Given the description of an element on the screen output the (x, y) to click on. 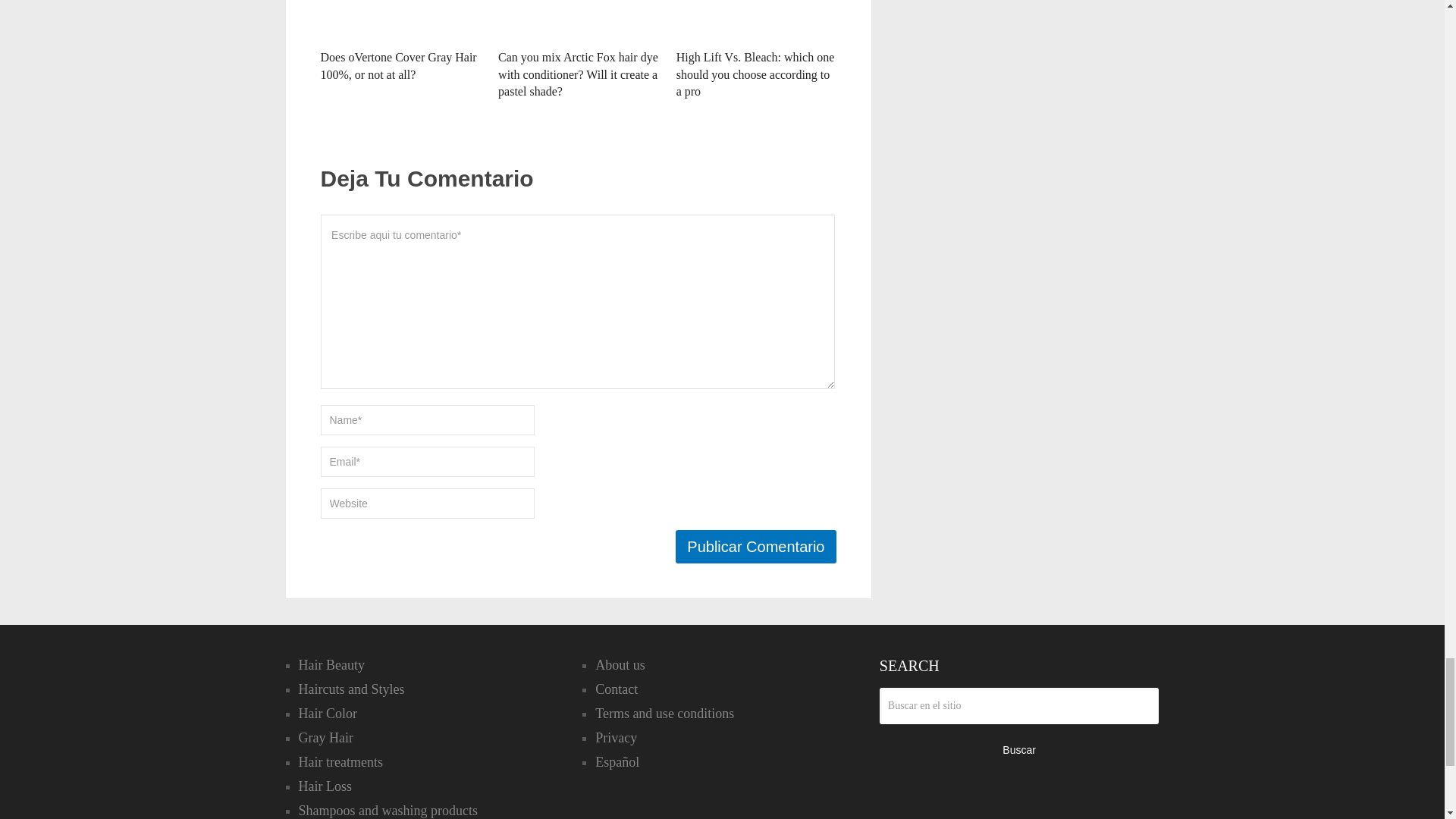
Publicar Comentario (755, 546)
Publicar Comentario (755, 546)
